Given the description of an element on the screen output the (x, y) to click on. 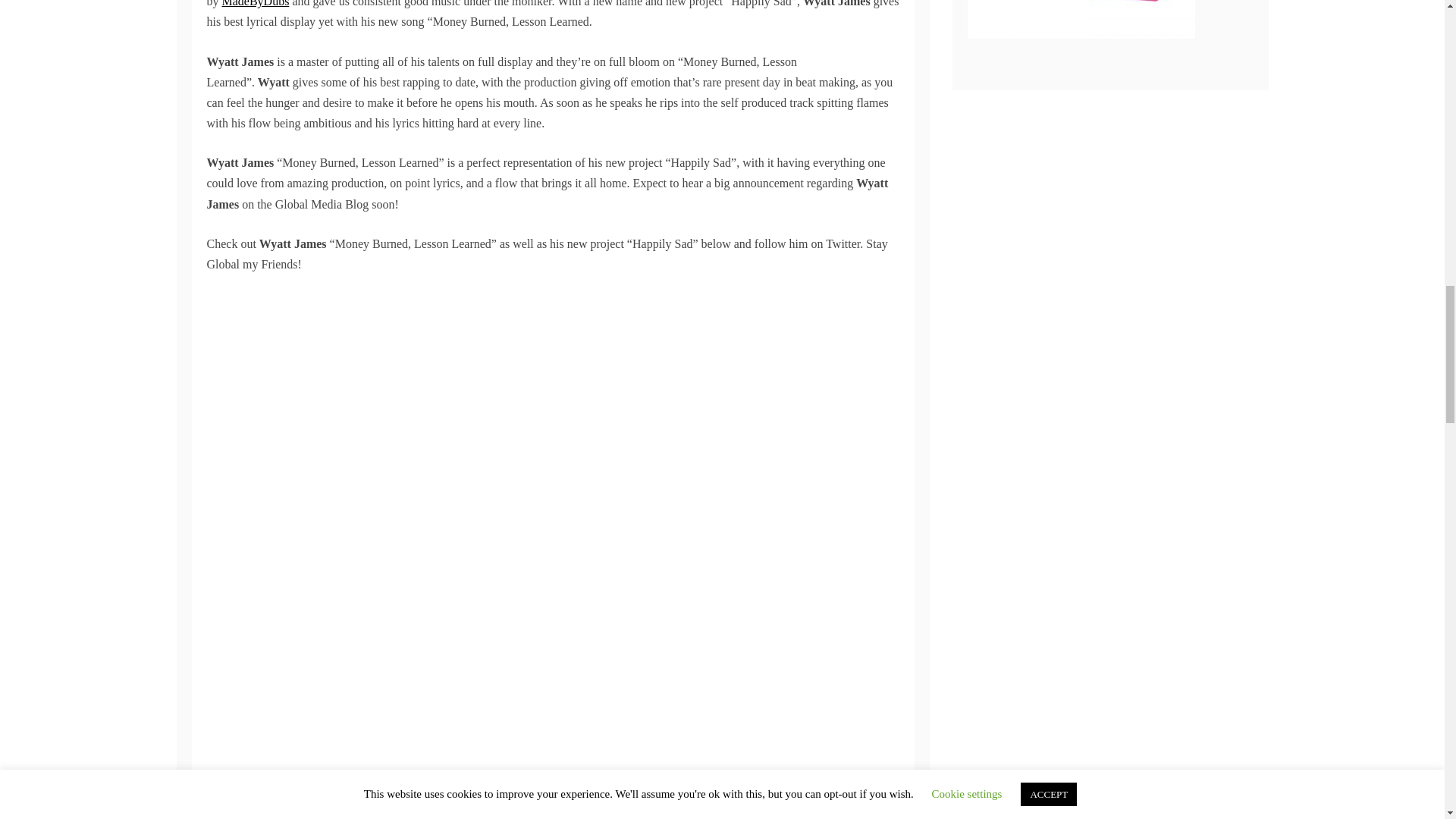
Spotify Embed: Happily Sad (552, 757)
